Given the description of an element on the screen output the (x, y) to click on. 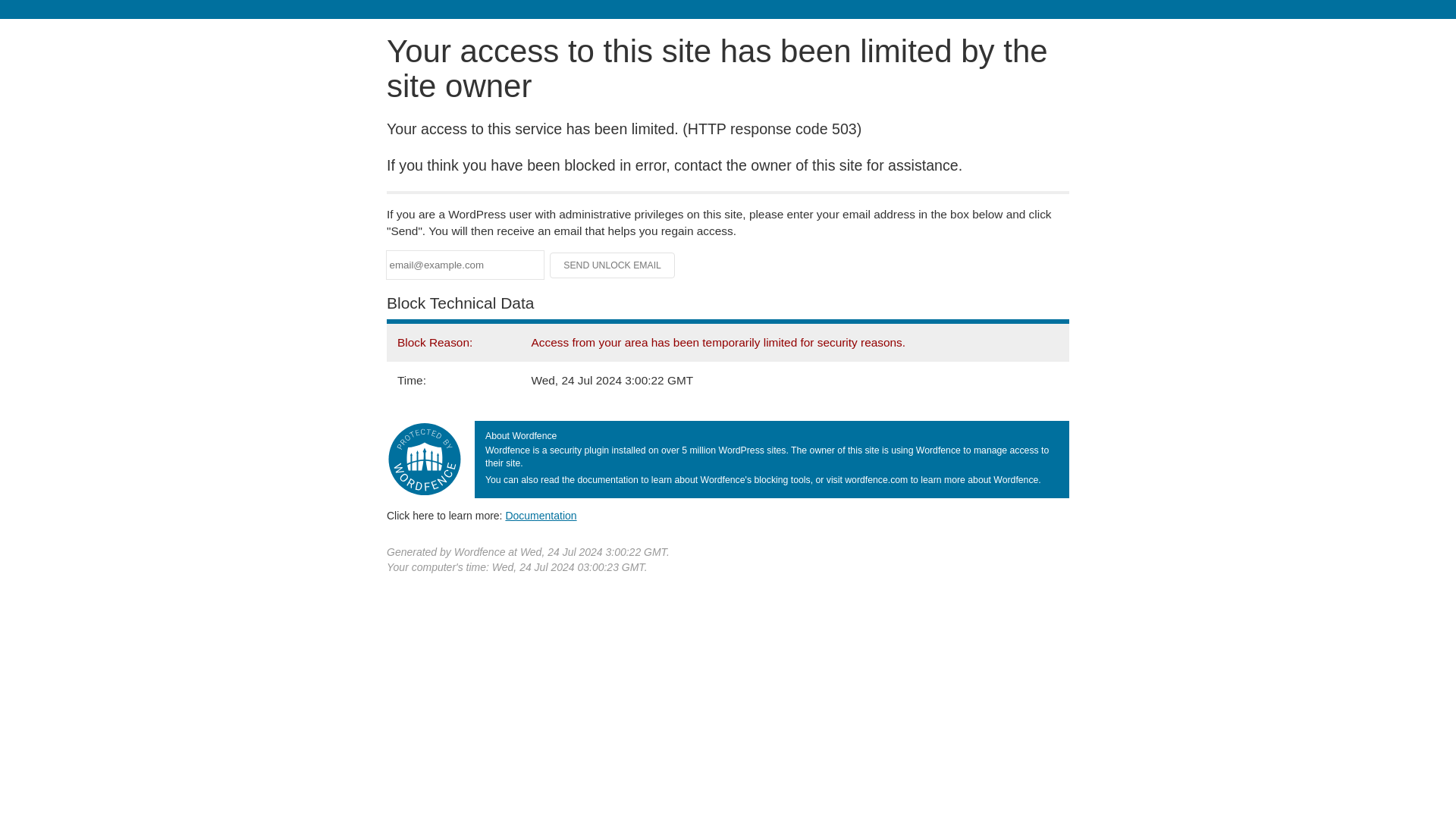
Send Unlock Email (612, 265)
Send Unlock Email (612, 265)
Documentation (540, 515)
